Given the description of an element on the screen output the (x, y) to click on. 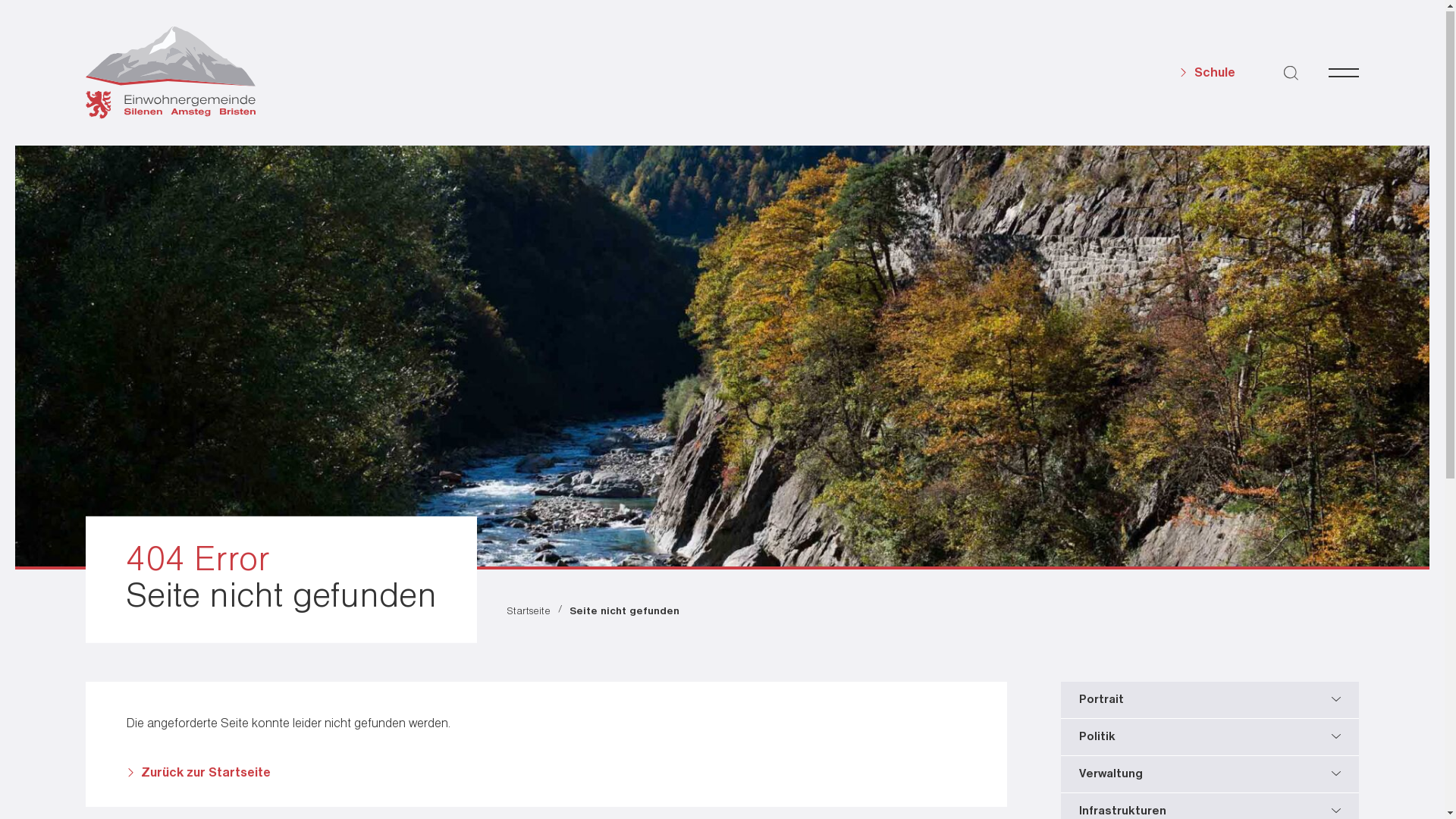
Schule Element type: text (1207, 74)
